Given the description of an element on the screen output the (x, y) to click on. 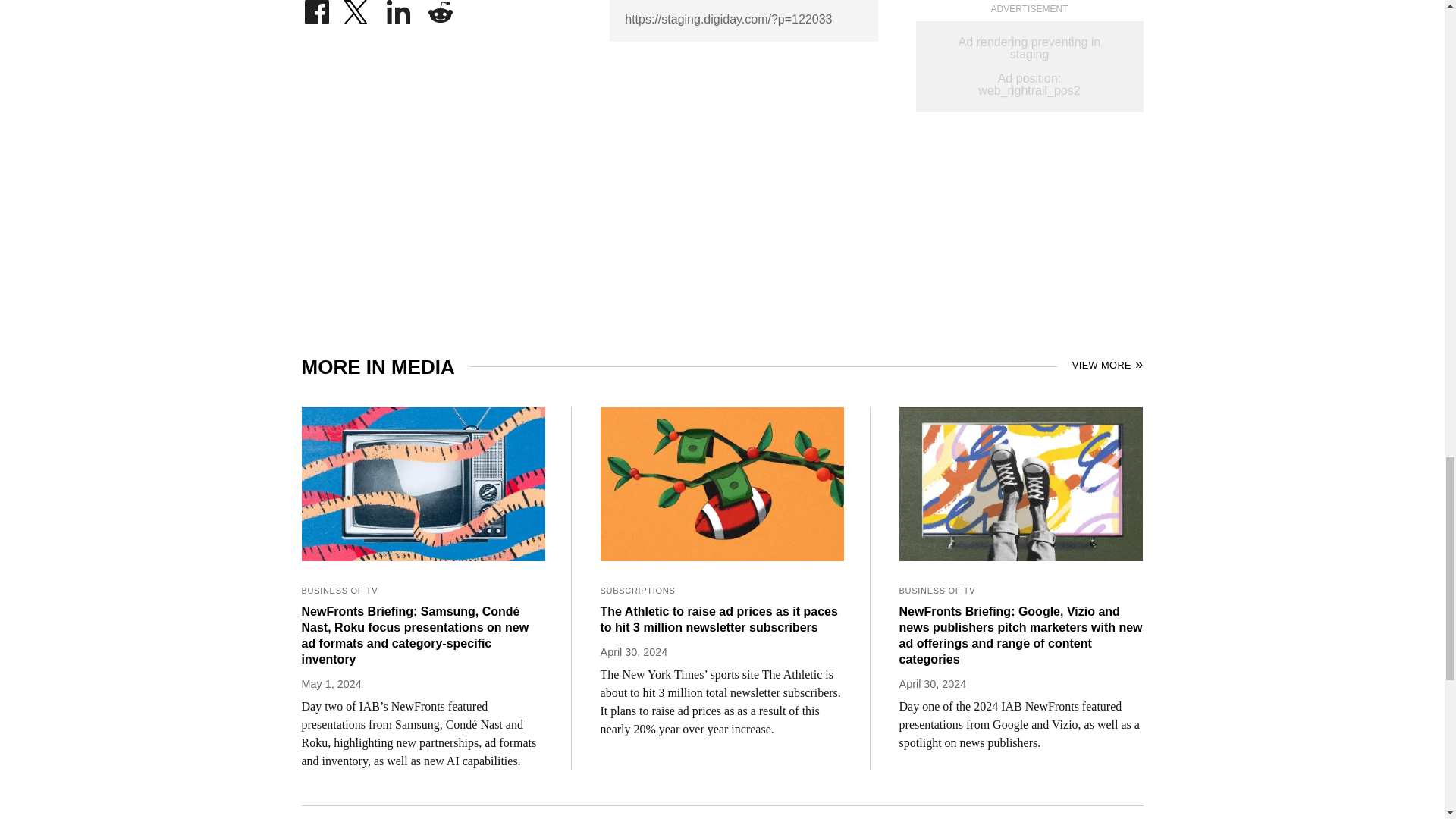
Share on Reddit (440, 7)
Share on LinkedIn (398, 7)
Share on Facebook (316, 7)
Share on Twitter (357, 7)
